Given the description of an element on the screen output the (x, y) to click on. 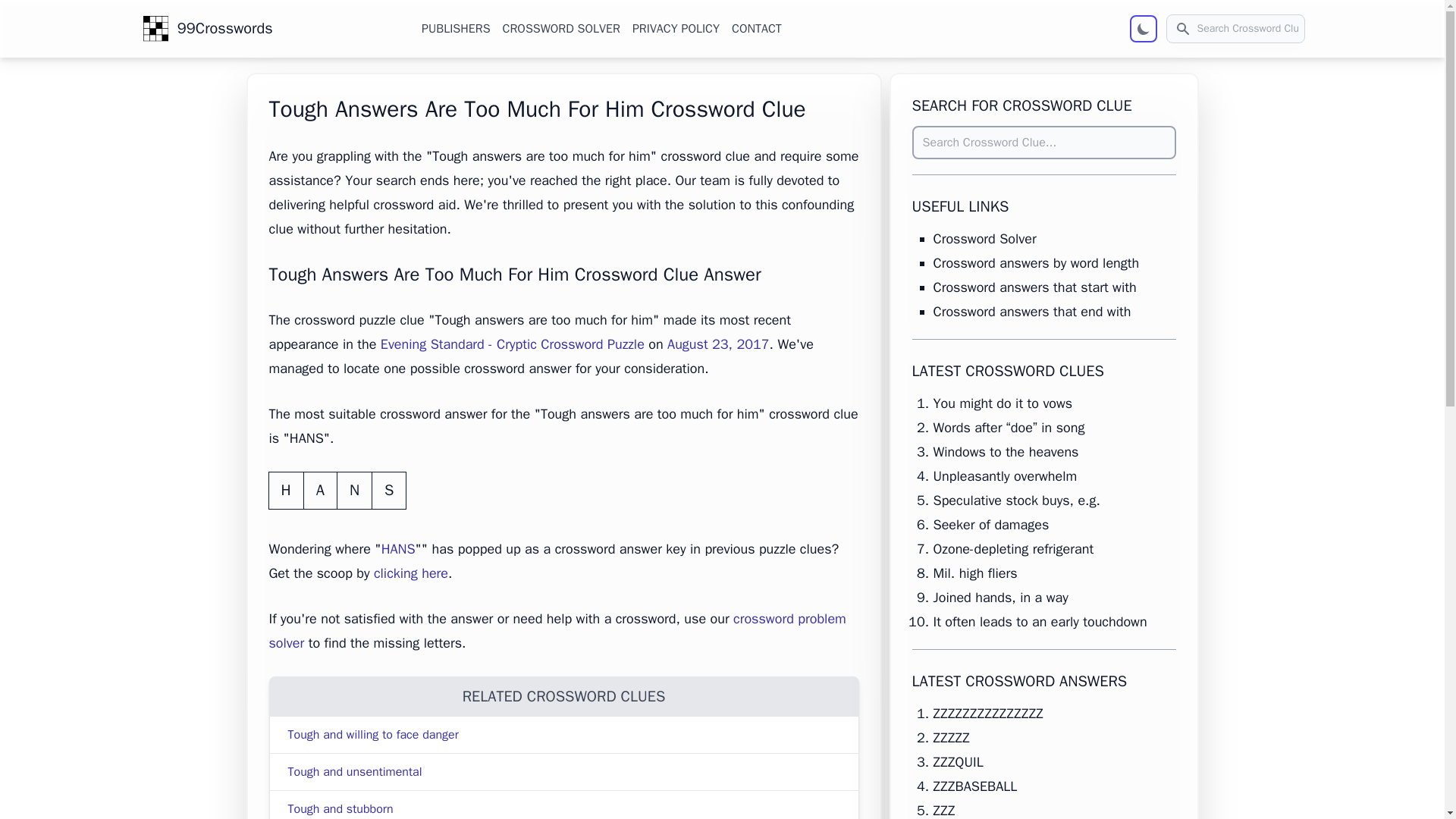
Tough and unsentimental (355, 771)
Crossword answers by word length (1035, 262)
CONTACT (756, 28)
crossword problem solver (556, 630)
PRIVACY POLICY (675, 28)
HANS (397, 548)
Evening Standard - Cryptic Crossword Puzzle (512, 343)
PUBLISHERS (455, 28)
clicking here (411, 573)
99Crosswords (215, 27)
